Given the description of an element on the screen output the (x, y) to click on. 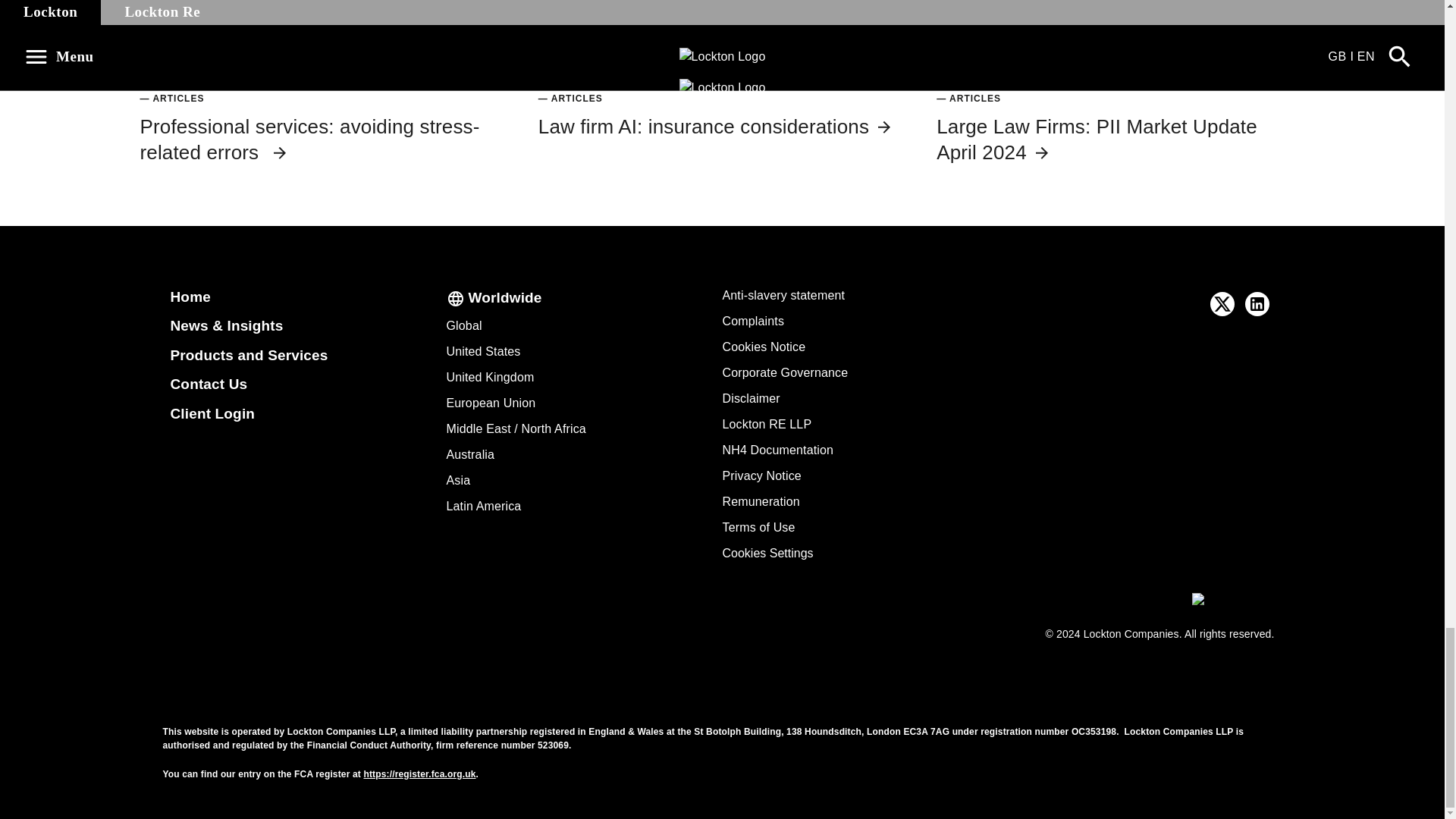
Anti-slavery statement (783, 295)
Law firm AI: insurance considerations (715, 126)
Client Login (212, 413)
Home (189, 296)
Follow Lockton on Twitter (1221, 303)
Products and Services (248, 355)
Large Law Firms: PII Market Update April 2024 (1096, 139)
Contact Us (208, 383)
Follow Lockton on LinkedIn (1256, 303)
Global (463, 325)
